Given the description of an element on the screen output the (x, y) to click on. 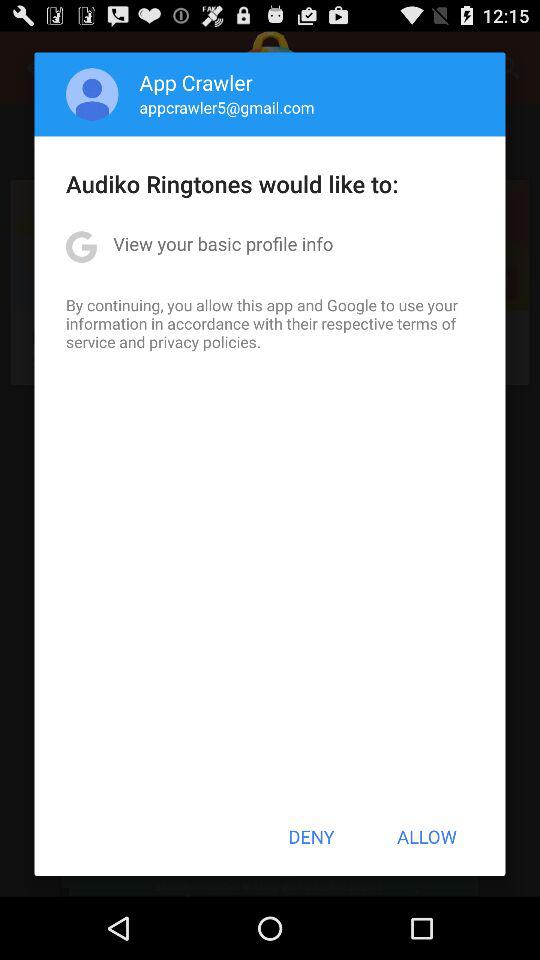
flip to the appcrawler5@gmail.com (226, 107)
